Given the description of an element on the screen output the (x, y) to click on. 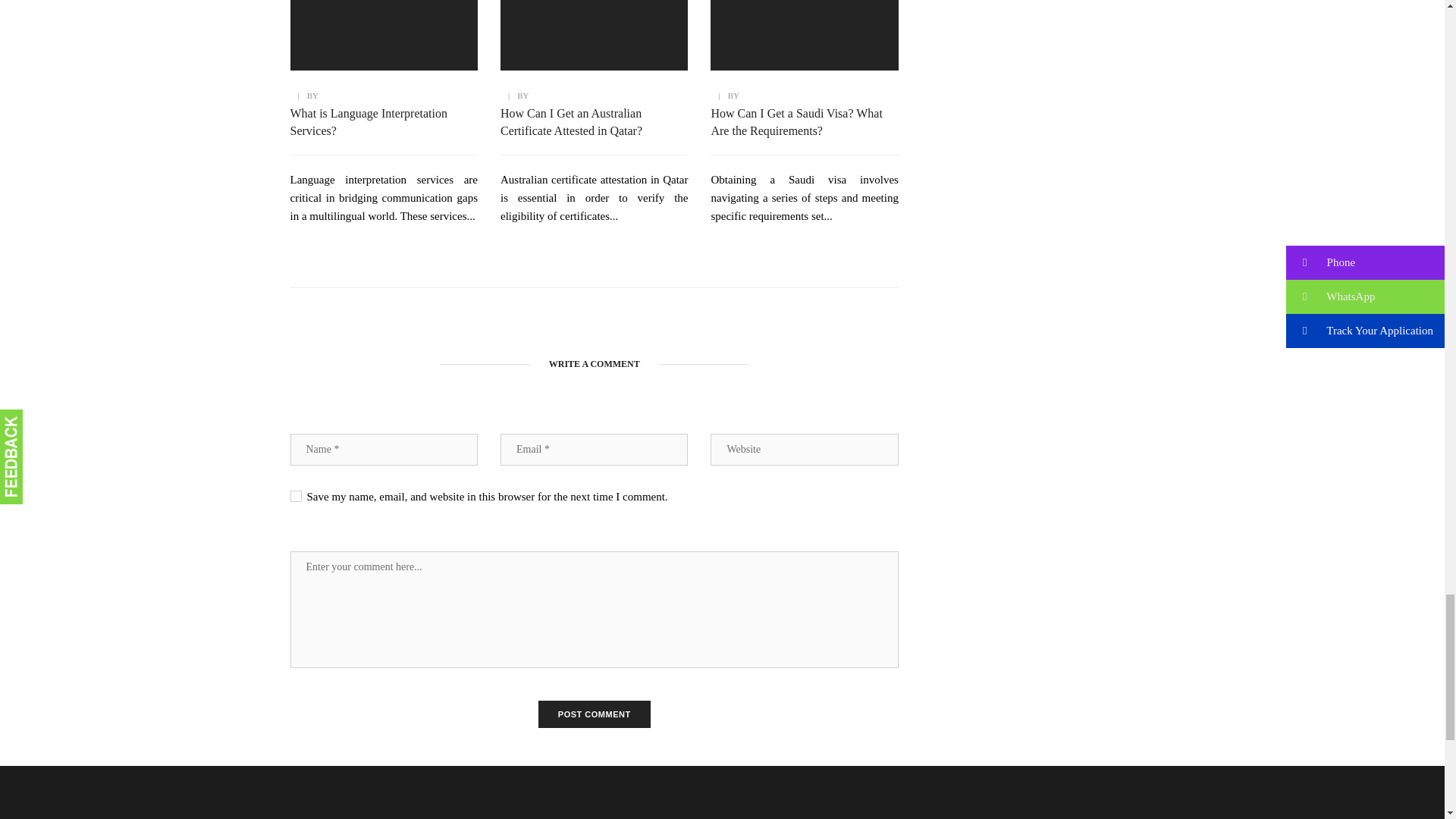
Post Comment (594, 714)
yes (295, 496)
